Given the description of an element on the screen output the (x, y) to click on. 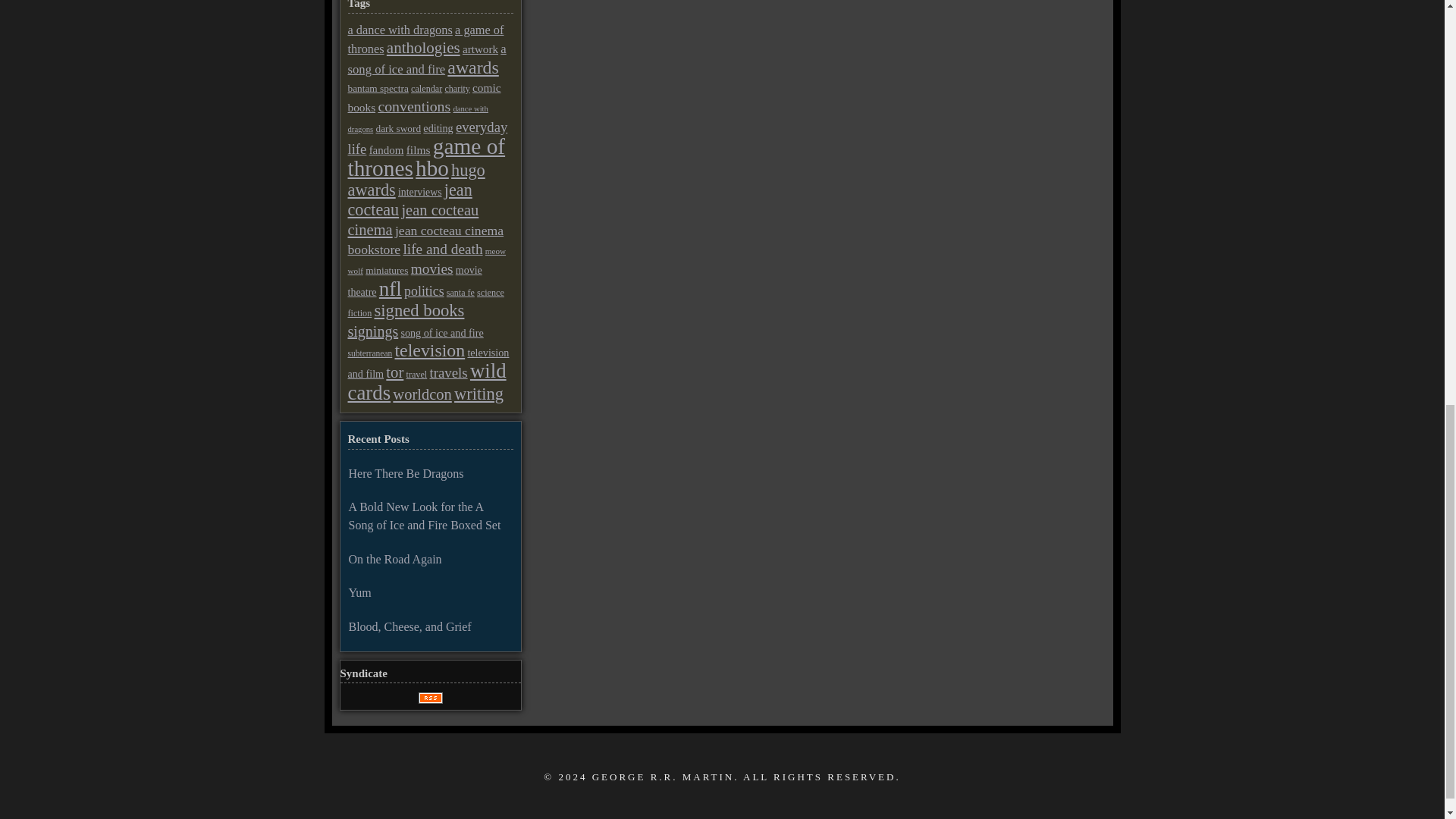
a dance with dragons (399, 29)
dark sword (398, 128)
films (418, 149)
comic books (423, 97)
calendar (426, 88)
charity (456, 88)
bantam spectra (377, 88)
dance with dragons (417, 118)
fandom (386, 150)
hbo (431, 168)
